Given the description of an element on the screen output the (x, y) to click on. 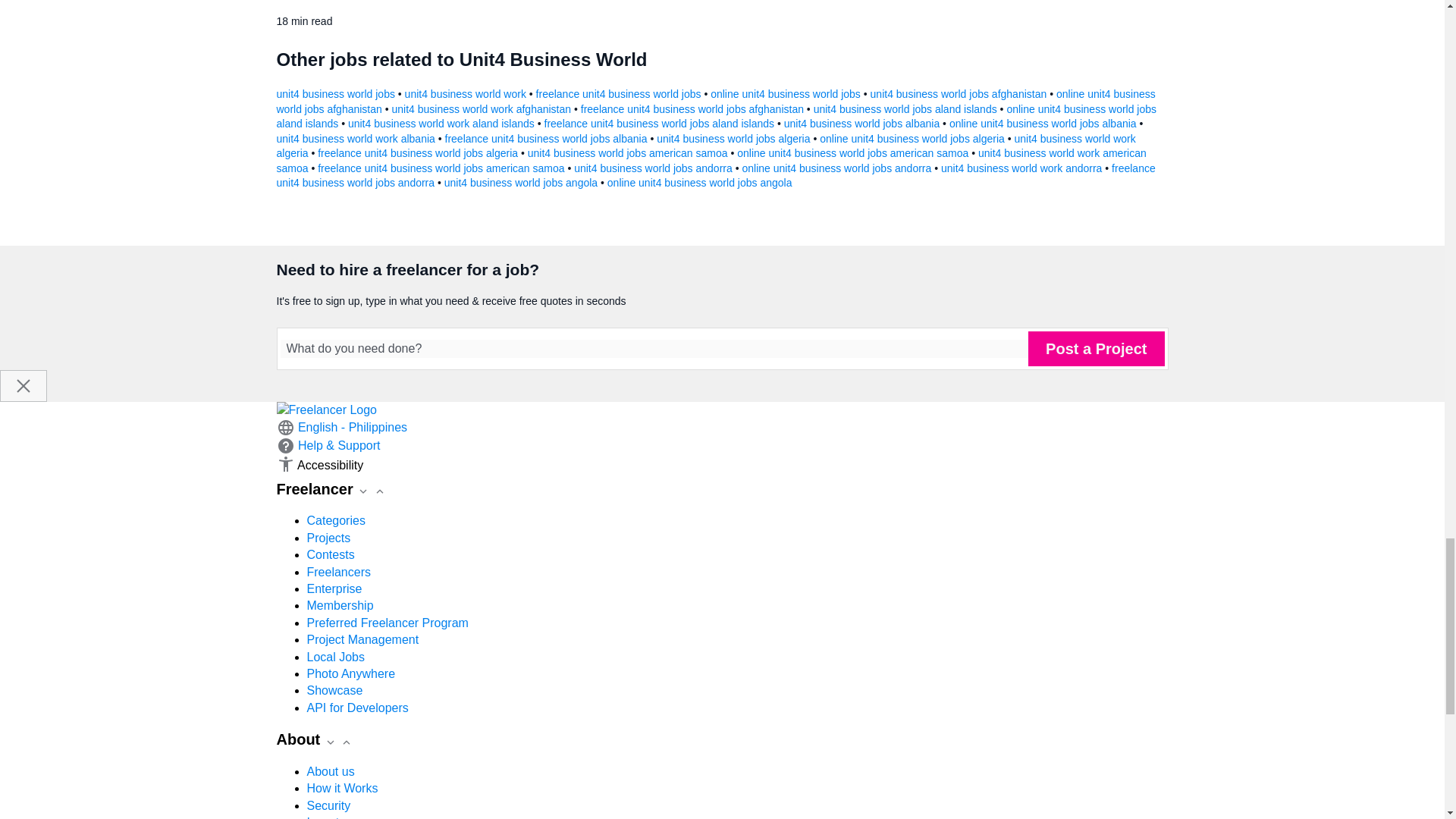
unit4 business world jobs (336, 93)
unit4 business world work (466, 93)
freelance unit4 business world jobs (619, 93)
unit4 business world jobs afghanistan (959, 93)
online unit4 business world jobs (786, 93)
online unit4 business world jobs afghanistan (715, 101)
